Given the description of an element on the screen output the (x, y) to click on. 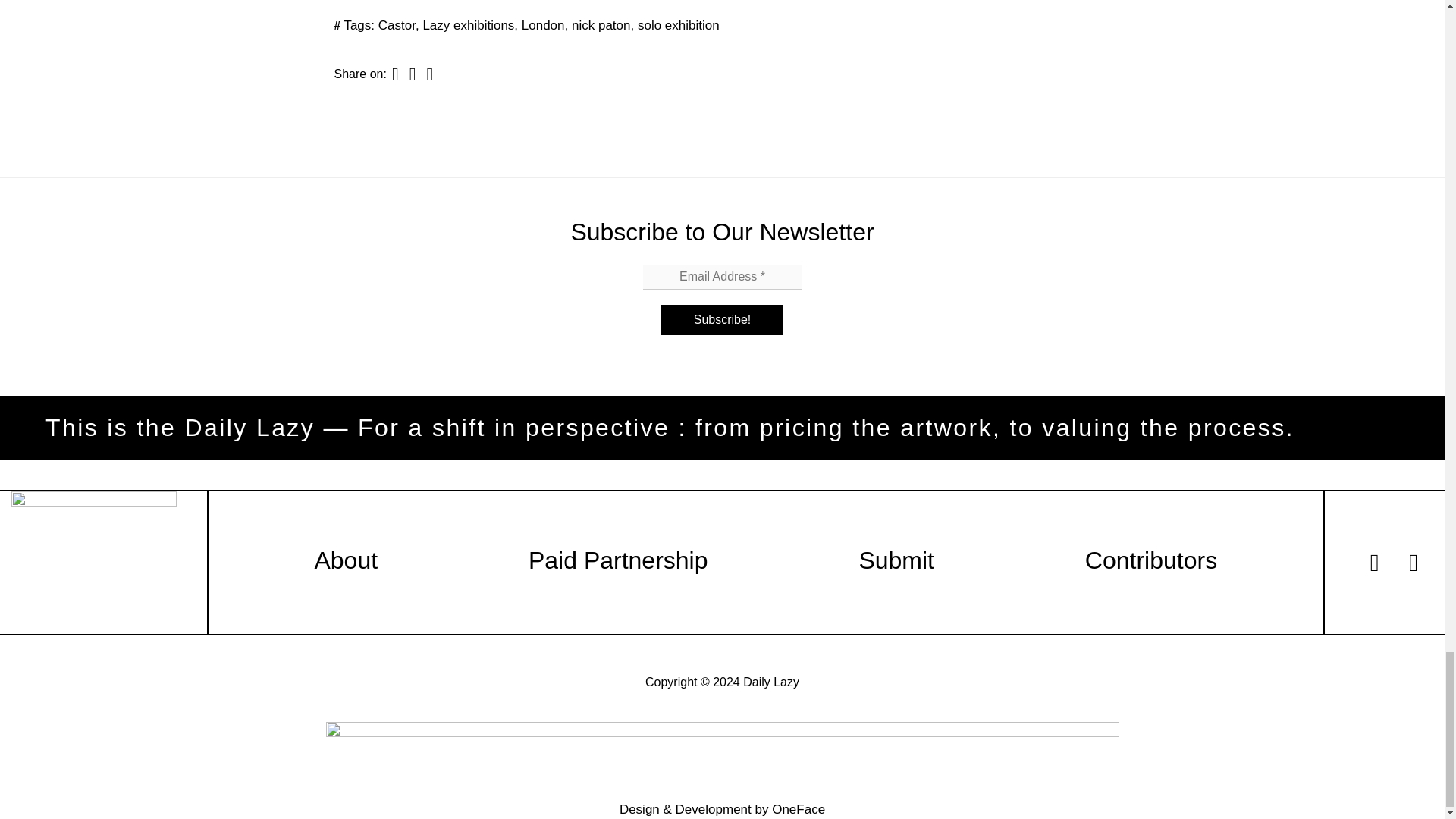
Email Address (722, 276)
Subscribe! (722, 319)
